Given the description of an element on the screen output the (x, y) to click on. 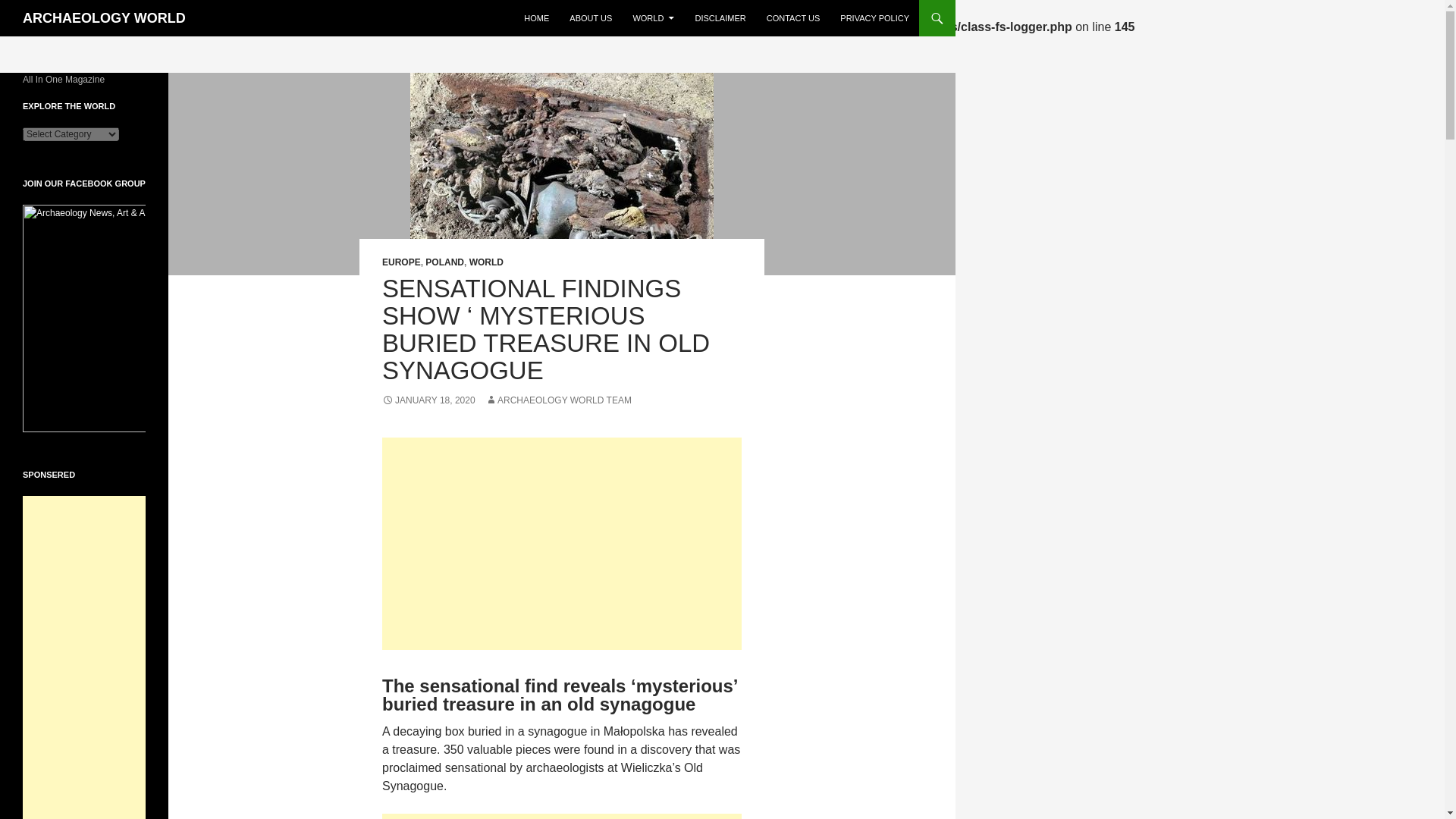
ARCHAEOLOGY WORLD (104, 18)
HOME (536, 18)
ABOUT US (590, 18)
WORLD (652, 18)
